Given the description of an element on the screen output the (x, y) to click on. 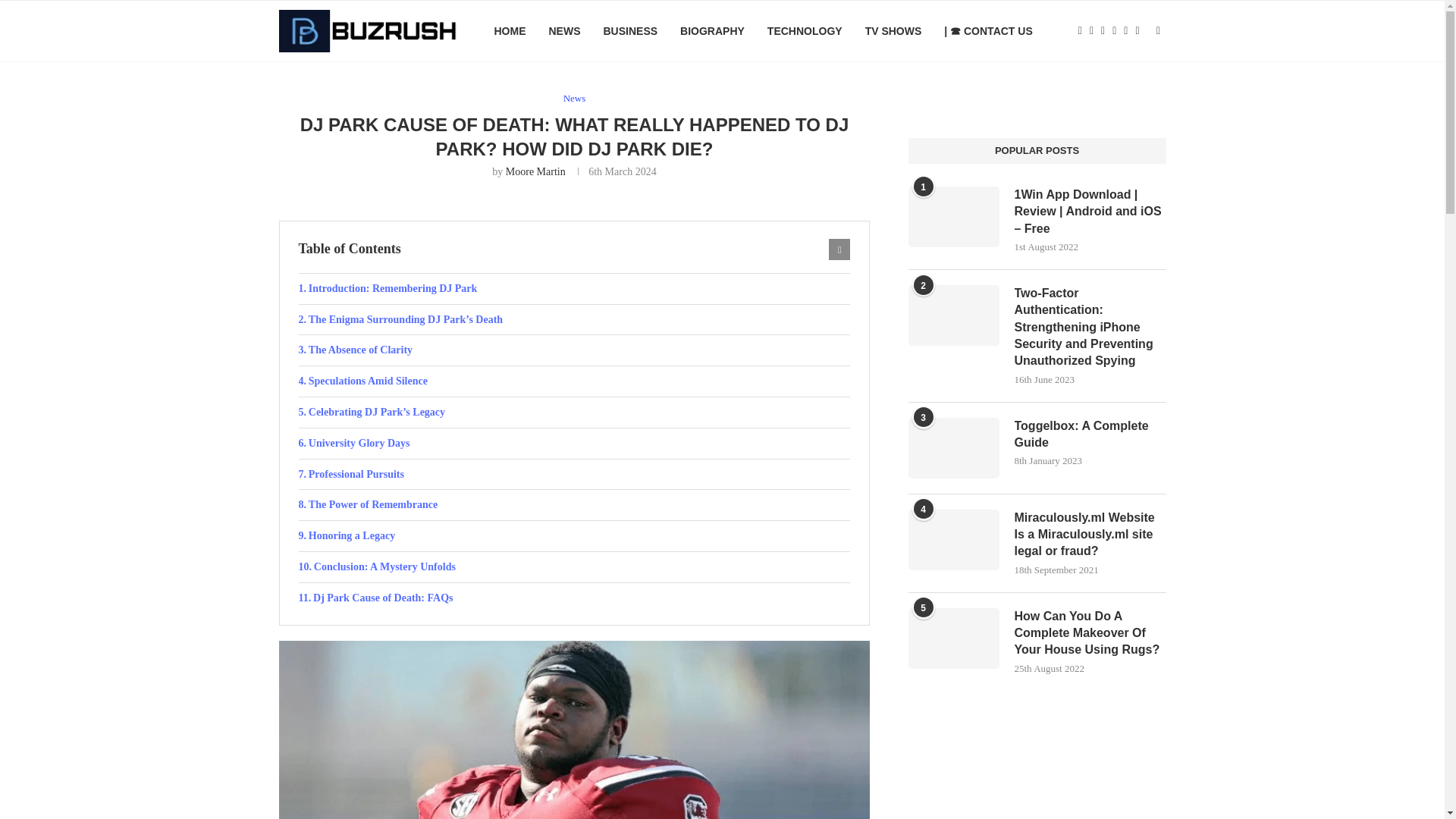
Moore Martin (535, 171)
BUSINESS (630, 30)
Introduction: Remembering DJ Park (574, 288)
Dj Park Cause of Death: FAQs (574, 598)
Introduction: Remembering DJ Park (574, 288)
TECHNOLOGY (805, 30)
Speculations Amid Silence (574, 381)
The Absence of Clarity (574, 349)
NEWS (563, 30)
The Absence of Clarity (574, 349)
News (574, 98)
Honoring a Legacy (574, 535)
University Glory Days (574, 443)
BIOGRAPHY (711, 30)
Dj Park Cause of Death: FAQs (574, 598)
